Given the description of an element on the screen output the (x, y) to click on. 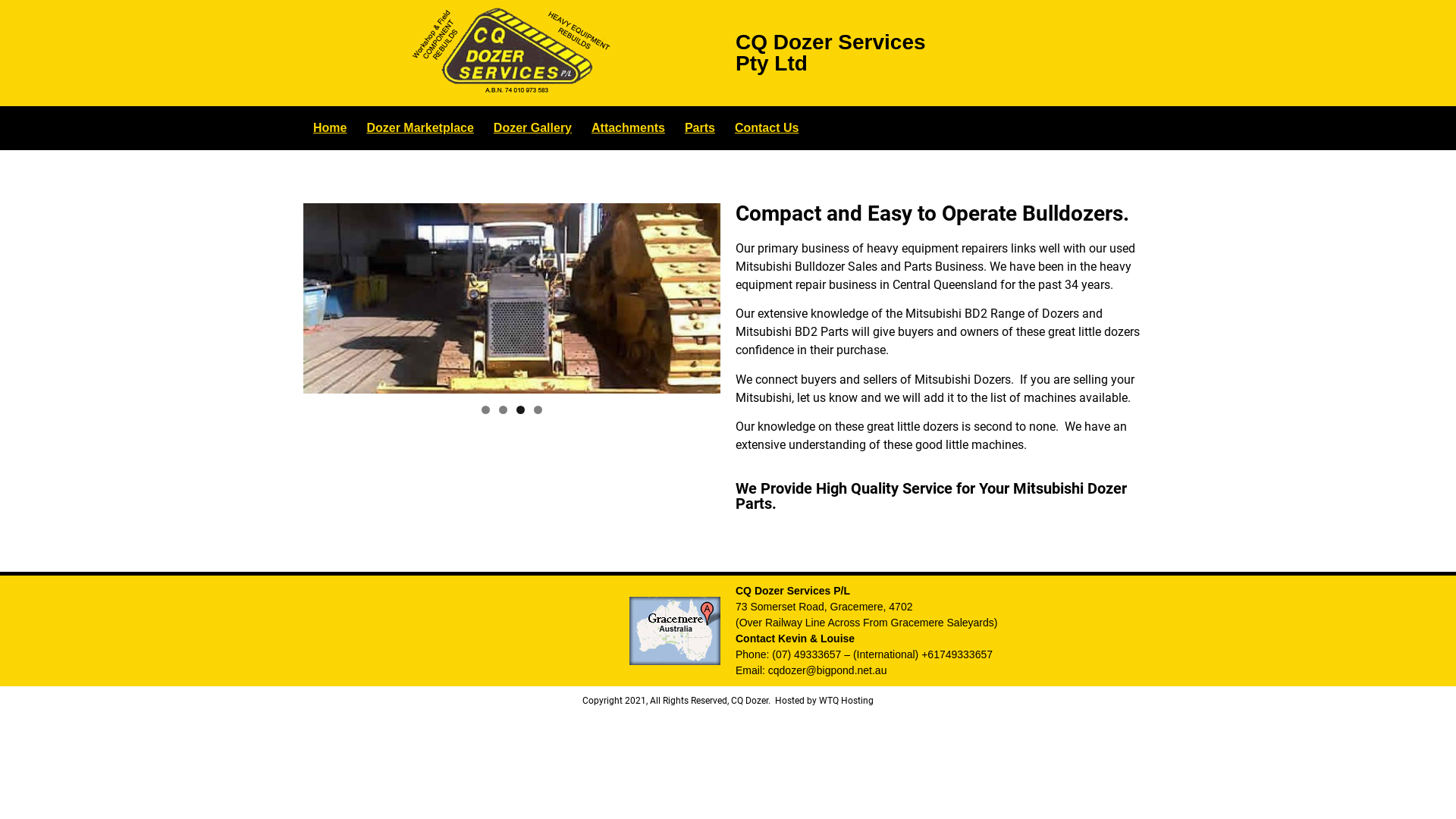
Home Element type: text (329, 127)
Attachments Element type: text (627, 127)
2 Element type: text (502, 409)
1 Element type: text (485, 409)
Parts Element type: text (699, 127)
Contact Us Element type: text (766, 127)
3 Element type: text (520, 409)
4 Element type: text (537, 409)
4 Element type: hover (511, 298)
Dozer Gallery Element type: text (532, 127)
Dozer Marketplace Element type: text (419, 127)
WTQ Hosting Element type: text (846, 700)
